Given the description of an element on the screen output the (x, y) to click on. 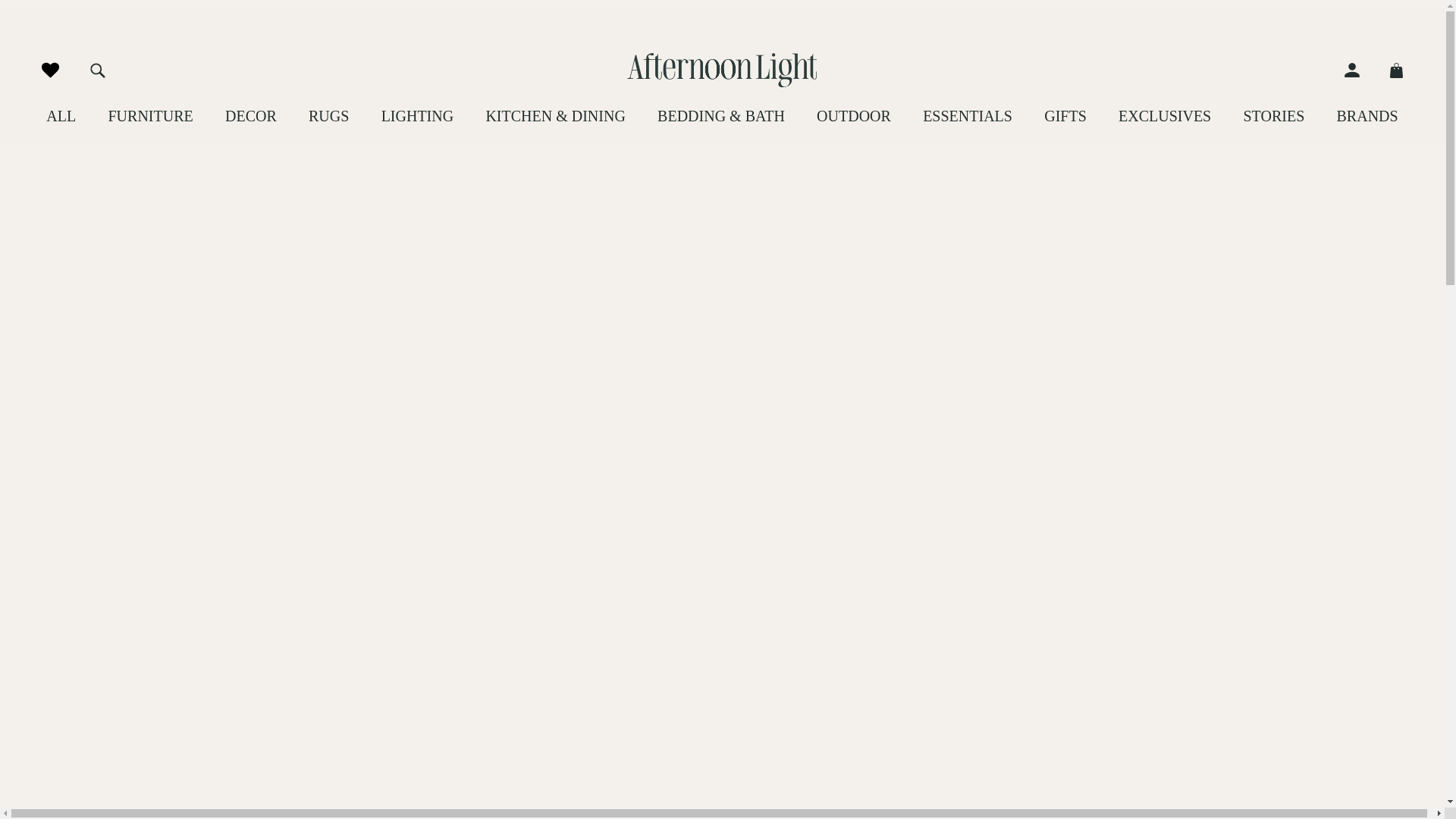
ALL (60, 115)
FURNITURE (149, 115)
Cart (1388, 70)
Log in (1358, 69)
